Given the description of an element on the screen output the (x, y) to click on. 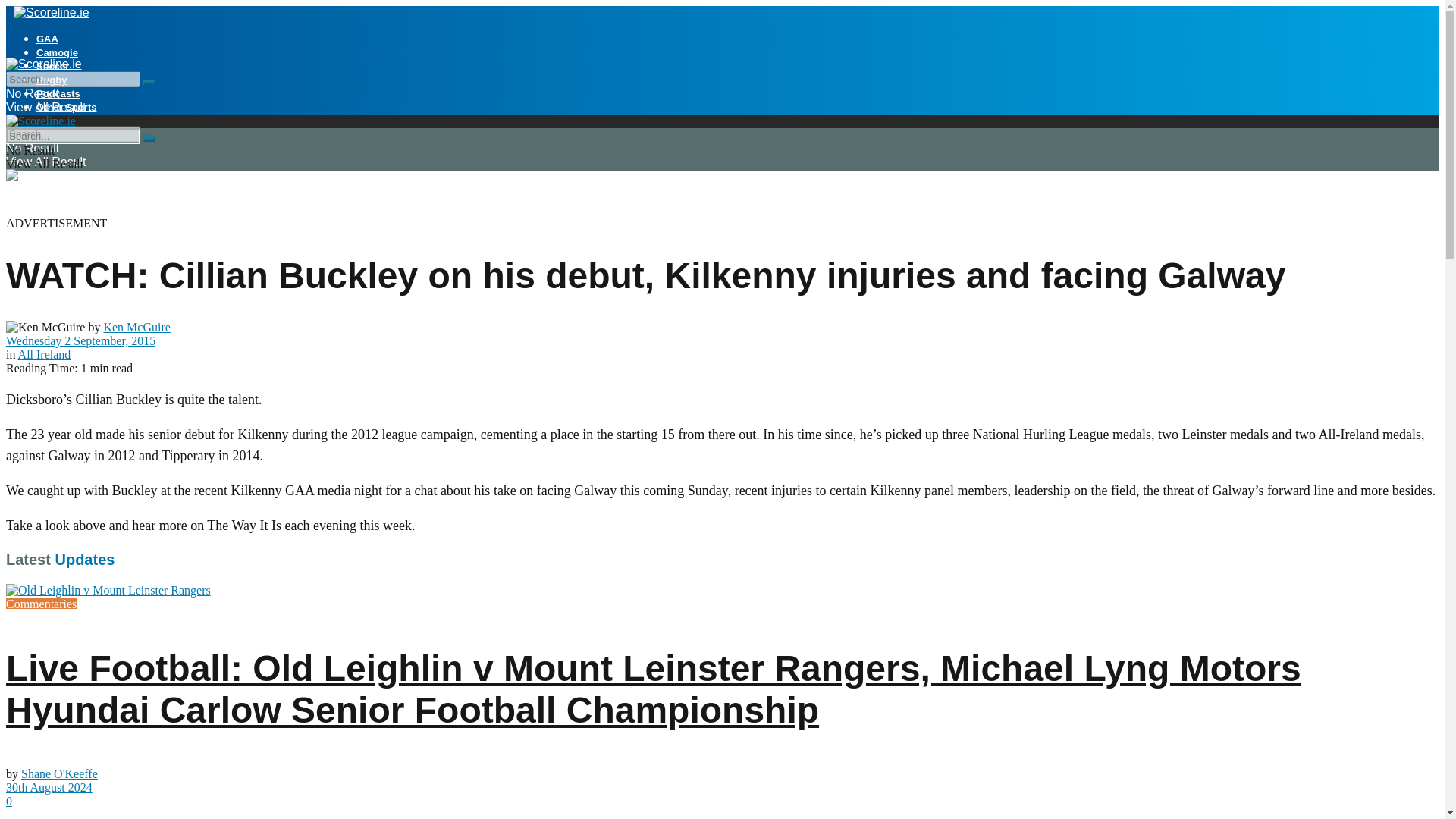
Commentaries (41, 603)
Shane O'Keeffe (59, 773)
All Ireland (44, 354)
Camogie (57, 52)
30th August 2024 (49, 787)
GAA (47, 39)
Rugby (51, 79)
Wednesday 2 September, 2015 (80, 340)
Podcasts (58, 93)
